Given the description of an element on the screen output the (x, y) to click on. 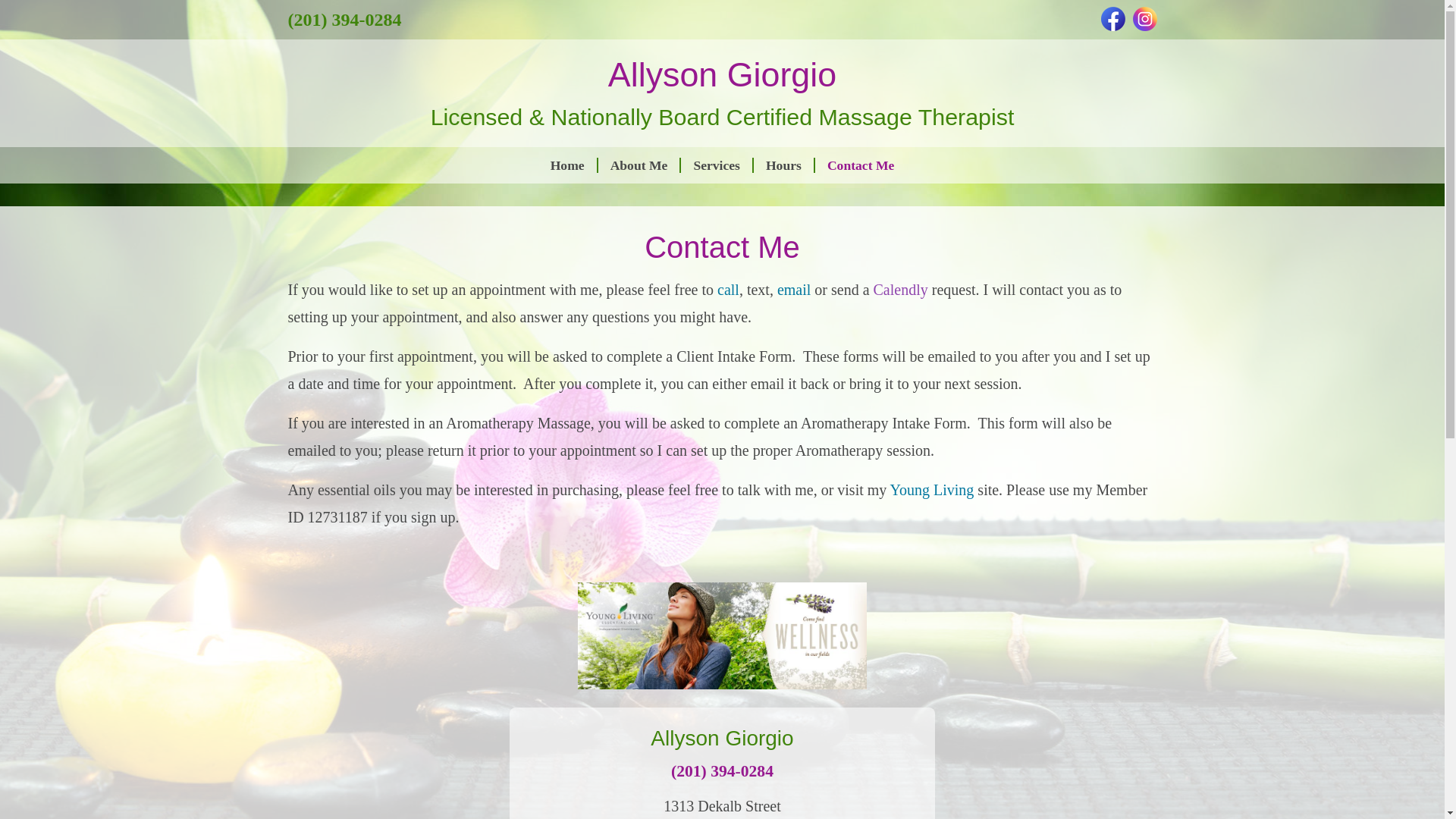
call (728, 289)
About Me (639, 164)
email (793, 289)
Hours (784, 164)
Contact Me (860, 164)
Calendly (902, 289)
Services (717, 164)
Young Living (931, 489)
Home (568, 164)
